Given the description of an element on the screen output the (x, y) to click on. 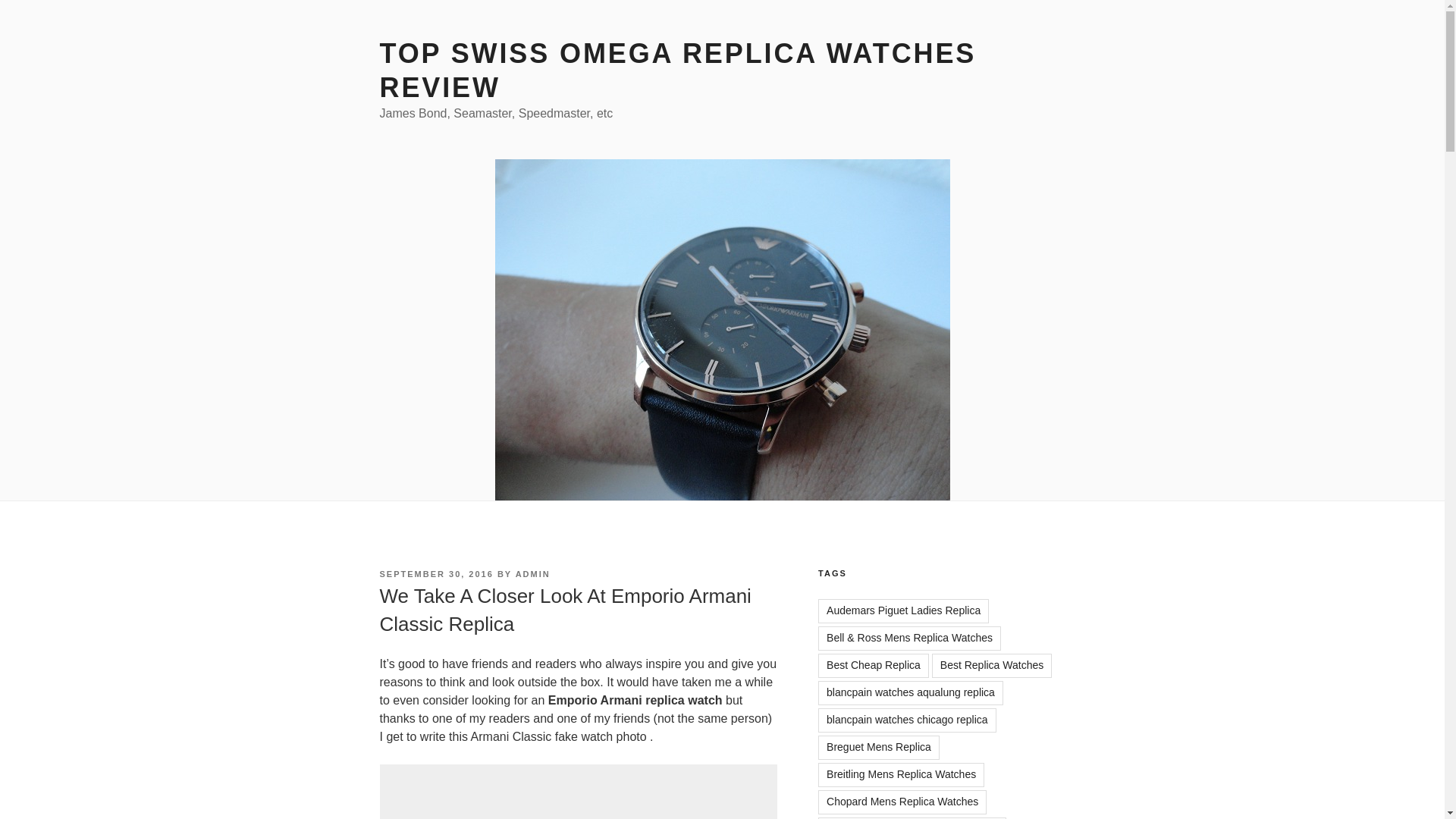
Breguet Mens Replica (878, 747)
Chopard Mens Replica Watches (902, 802)
Best Cheap Replica (873, 665)
blancpain watches chicago replica (906, 720)
ADMIN (532, 573)
Audemars Piguet Ladies Replica (903, 610)
TOP SWISS OMEGA REPLICA WATCHES REVIEW (676, 70)
Best Replica Watches (991, 665)
SEPTEMBER 30, 2016 (435, 573)
Breitling Mens Replica Watches (901, 774)
blancpain watches aqualung replica (910, 692)
